Given the description of an element on the screen output the (x, y) to click on. 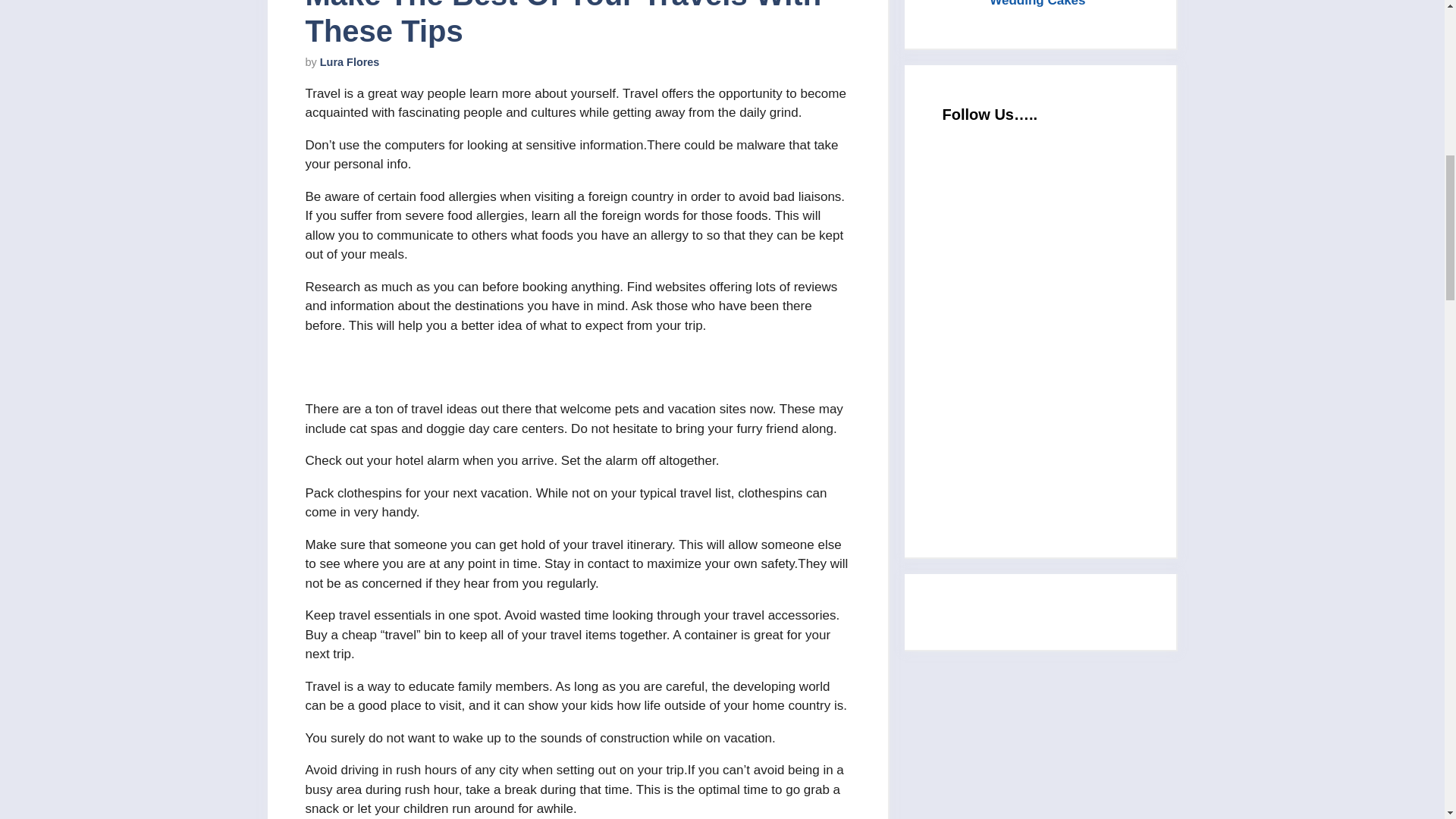
Pinterest (1055, 457)
Facebook (1055, 331)
View all posts by Lura Flores (350, 61)
Email (1055, 205)
